Given the description of an element on the screen output the (x, y) to click on. 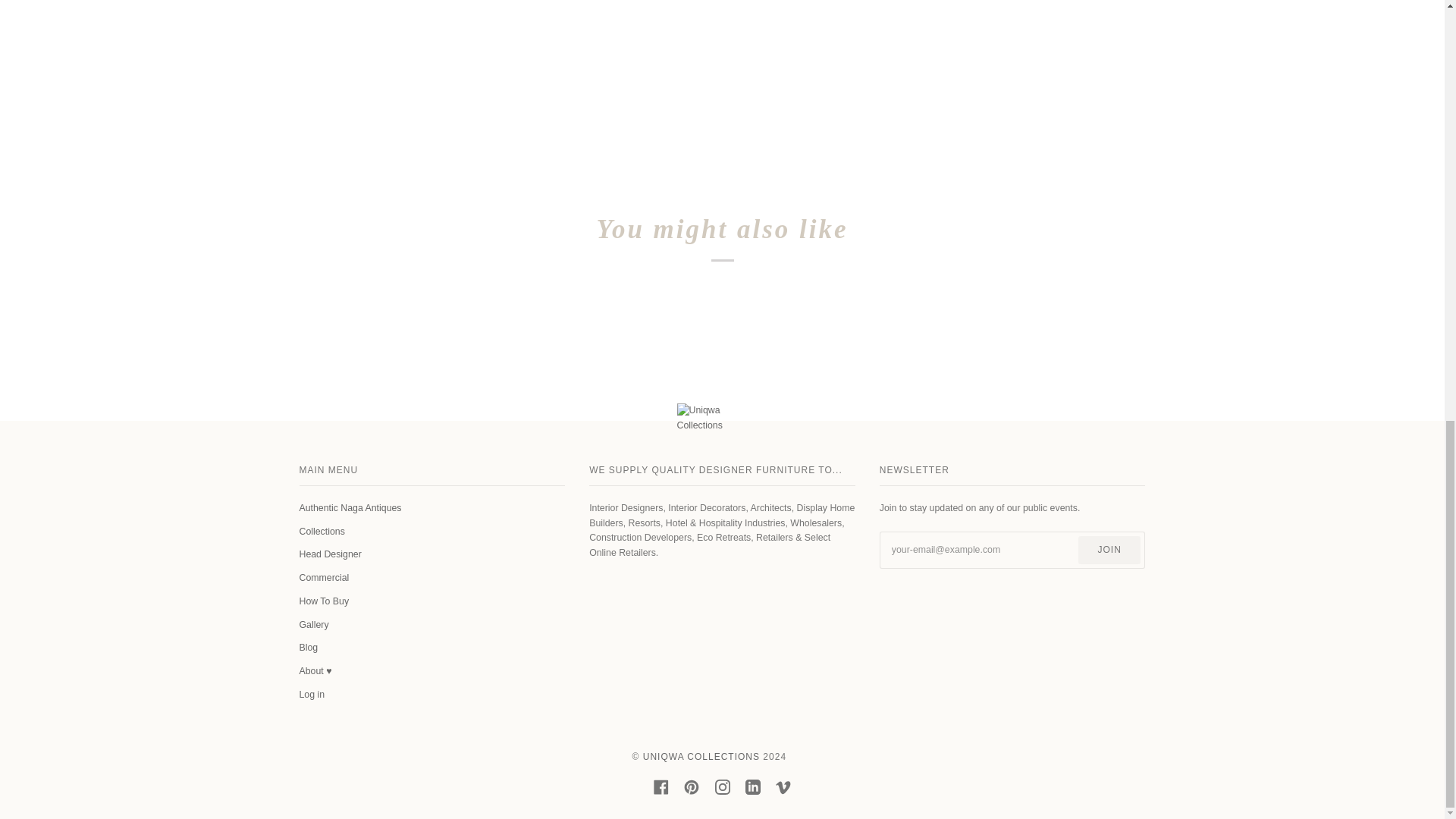
Instagram (721, 786)
Facebook (660, 786)
Pinterest (691, 786)
Vimeo (783, 786)
Linkedin (752, 786)
